Given the description of an element on the screen output the (x, y) to click on. 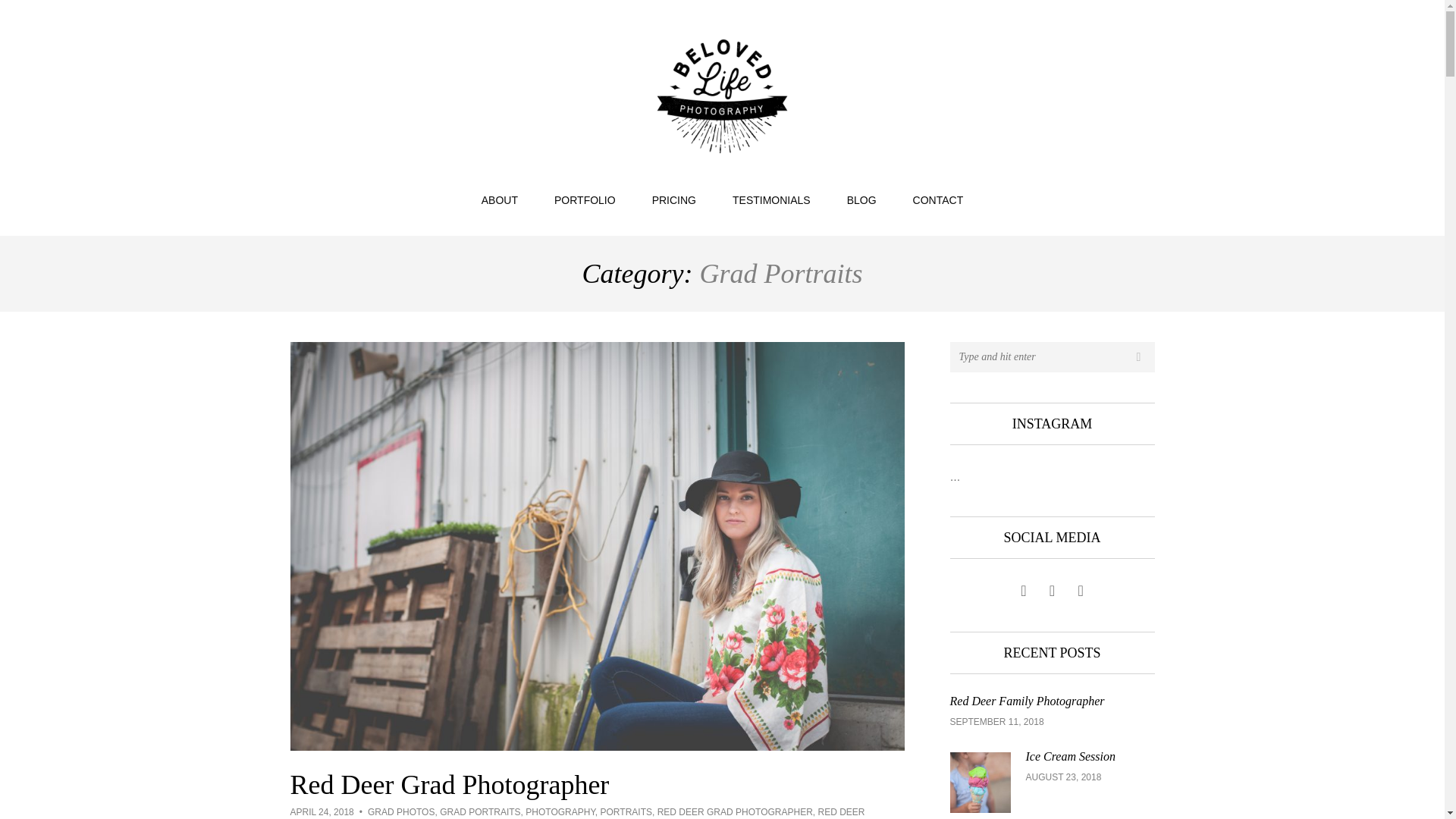
PORTRAITS (625, 811)
Read more (1051, 712)
PRICING (673, 200)
GRAD PHOTOS (400, 811)
Read more (1051, 782)
CONTACT (938, 200)
Post categories (576, 812)
RED DEER GRAD PHOTOGRAPHER (735, 811)
PHOTOGRAPHY (560, 811)
PORTFOLIO (584, 200)
GRAD PORTRAITS (479, 811)
Publication date (321, 811)
TESTIMONIALS (771, 200)
RED DEER PHOTOGRAPHER (576, 812)
ABOUT (499, 200)
